Given the description of an element on the screen output the (x, y) to click on. 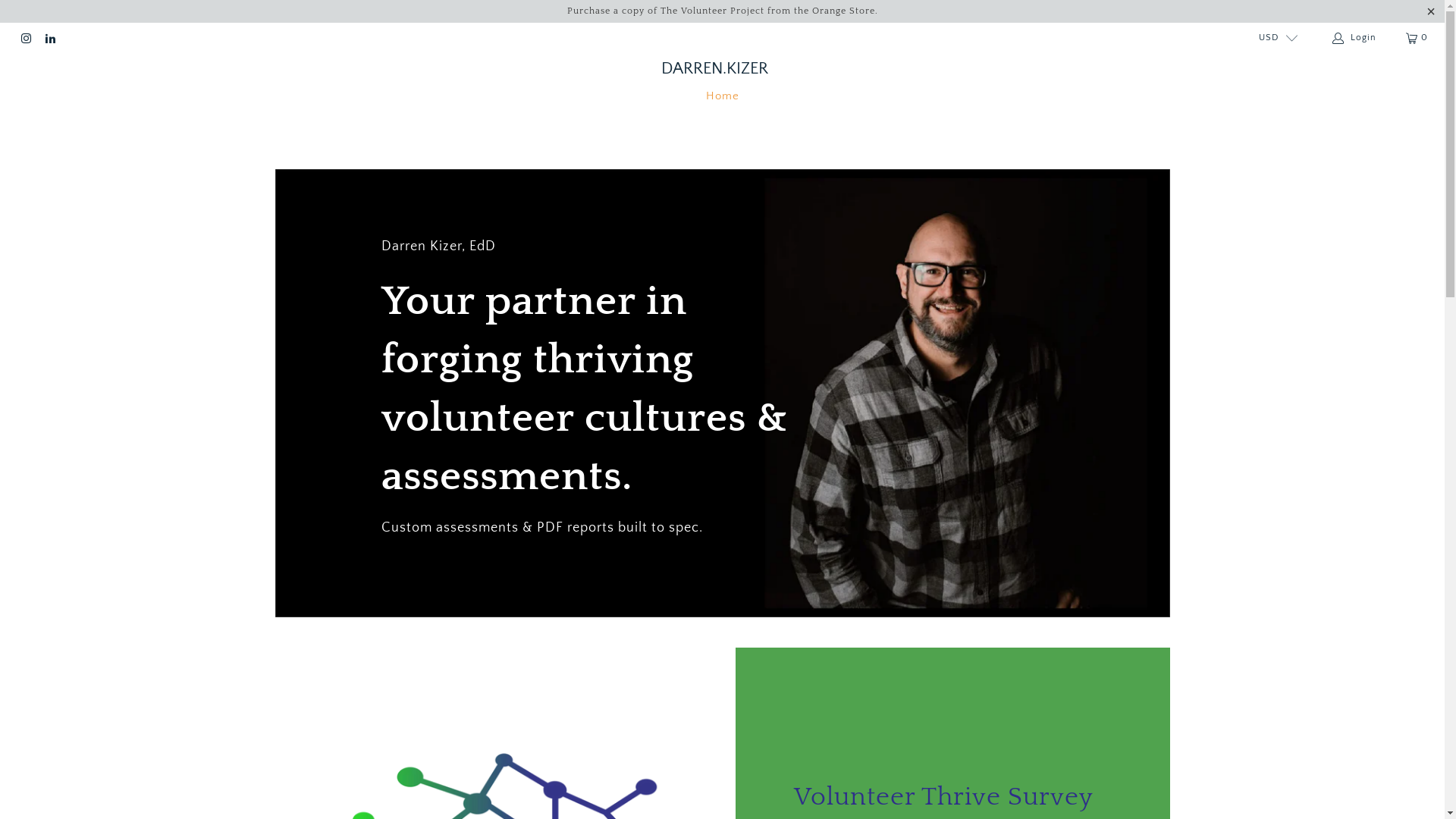
Darren.Kizer on Instagram Element type: hover (24, 37)
0 Element type: text (1417, 37)
Volunteer Thrive Survey Element type: text (951, 795)
Login Element type: text (1355, 37)
USD Element type: text (1271, 37)
Darren.Kizer on LinkedIn Element type: hover (48, 37)
DARREN.KIZER Element type: text (714, 68)
Home Element type: text (721, 96)
